Given the description of an element on the screen output the (x, y) to click on. 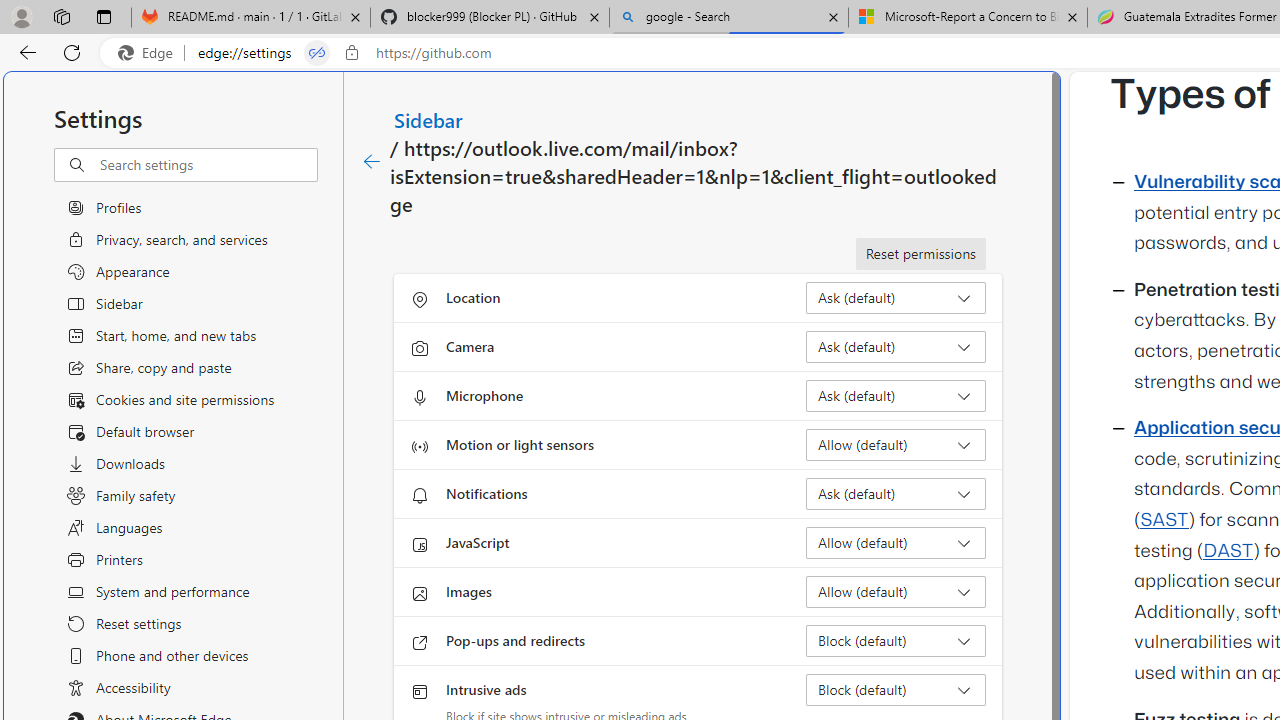
Reset permissions (920, 254)
Go back to Sidebar page. (372, 162)
Location Ask (default) (895, 297)
Edge (150, 53)
Motion or light sensors Allow (default) (895, 444)
Class: c01182 (371, 161)
Search settings (207, 165)
Intrusive ads Block (default) (895, 689)
JavaScript Allow (default) (895, 542)
